Given the description of an element on the screen output the (x, y) to click on. 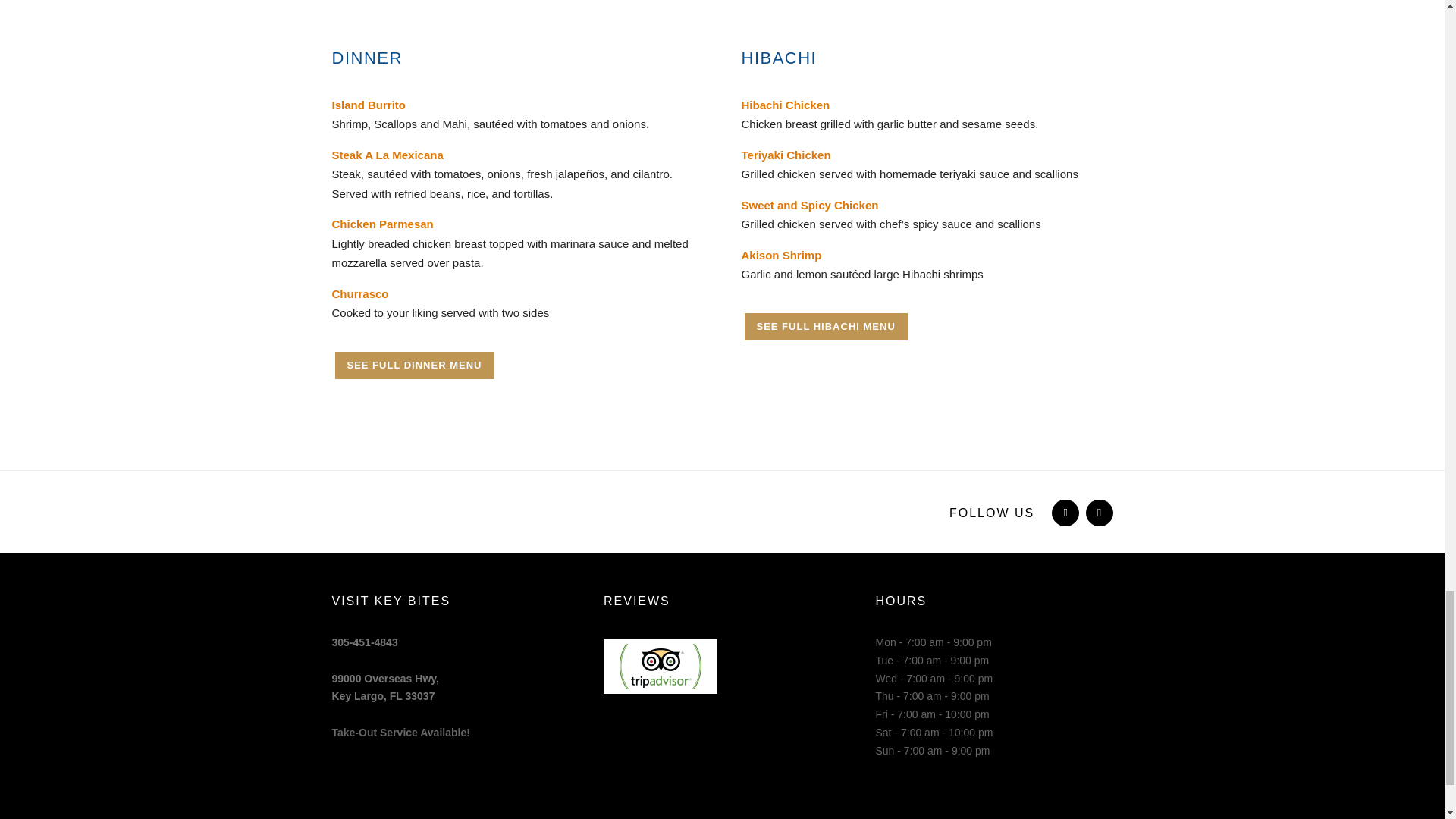
305-451-4843 (364, 642)
Facebook (385, 687)
SEE FULL HIBACHI MENU (1063, 512)
Yelp (825, 326)
SEE FULL DINNER MENU (1098, 512)
